Given the description of an element on the screen output the (x, y) to click on. 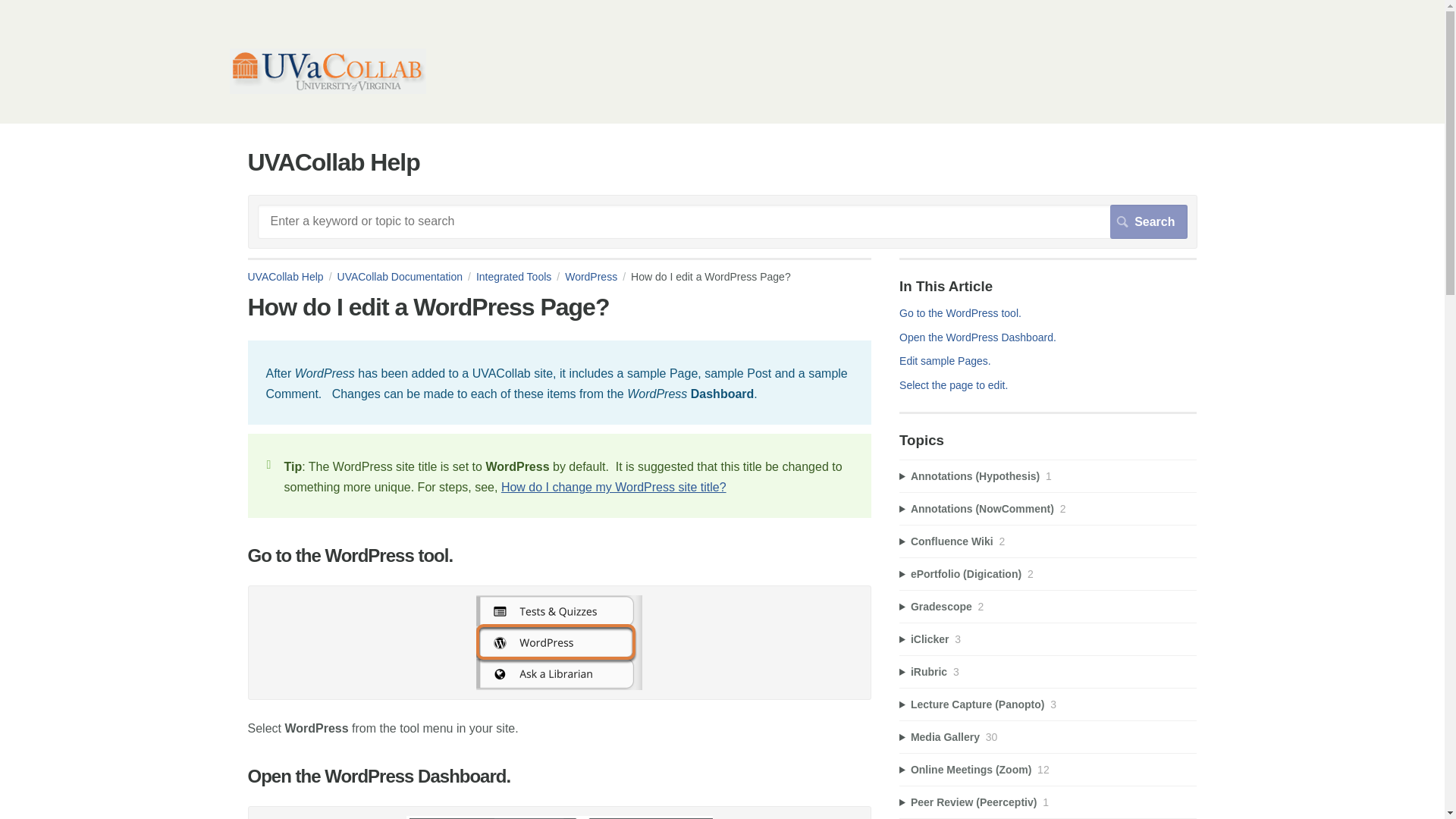
Search (1147, 221)
Open the WordPress Dashboard. (978, 337)
Integrated Tools (520, 276)
UVACollab Help (326, 89)
Select the page to edit. (953, 385)
How do I change my WordPress site title? (613, 486)
WordPress (597, 276)
Search (1147, 221)
Edit sample Pages.   (947, 360)
UVACollab Help (291, 276)
Go to the WordPress tool.   (963, 313)
UVACollab Documentation (406, 276)
Search (1147, 221)
